Given the description of an element on the screen output the (x, y) to click on. 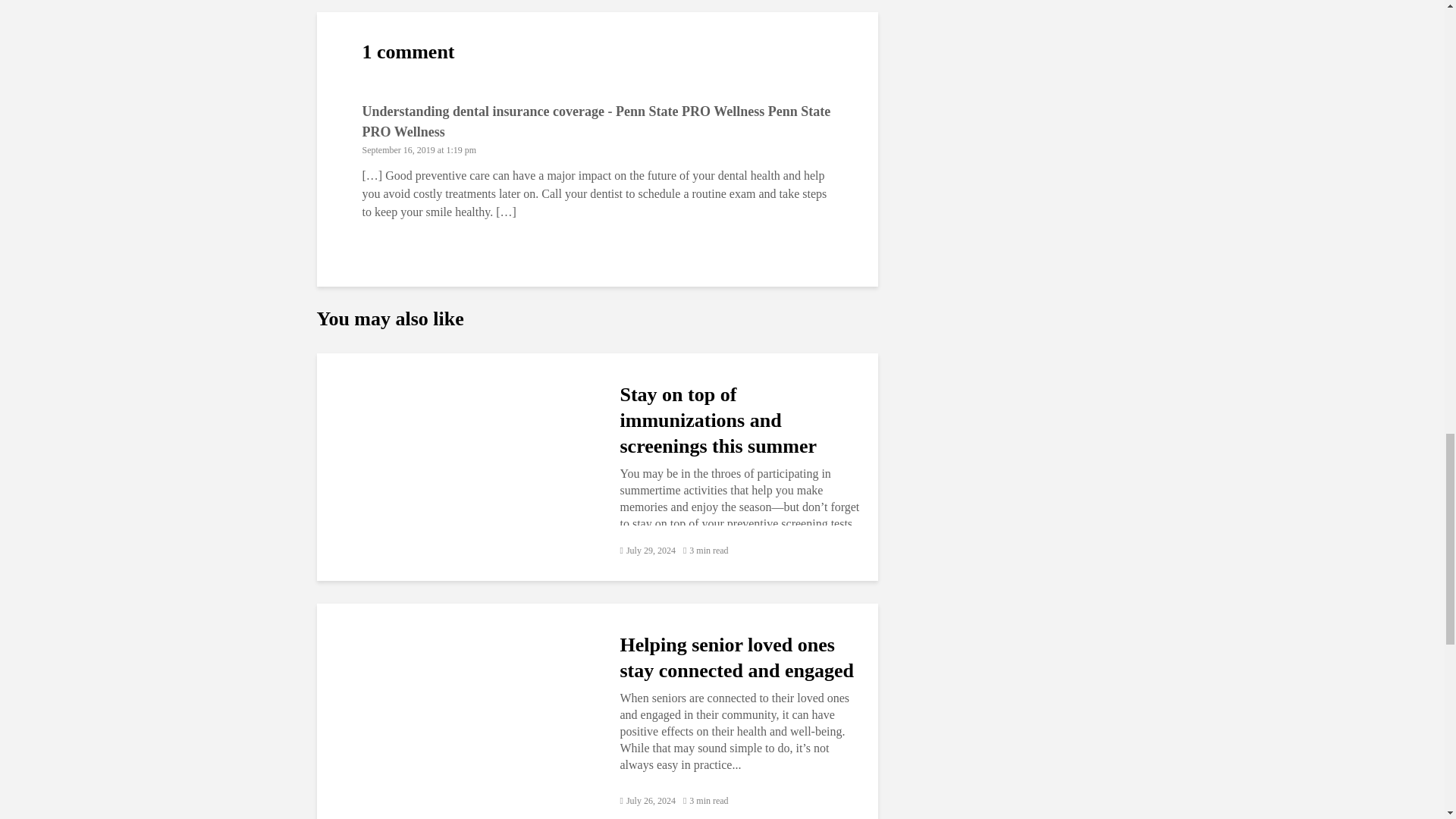
Stay on top of immunizations and screenings this summer (456, 465)
Helping senior loved ones stay connected and engaged (456, 716)
